Given the description of an element on the screen output the (x, y) to click on. 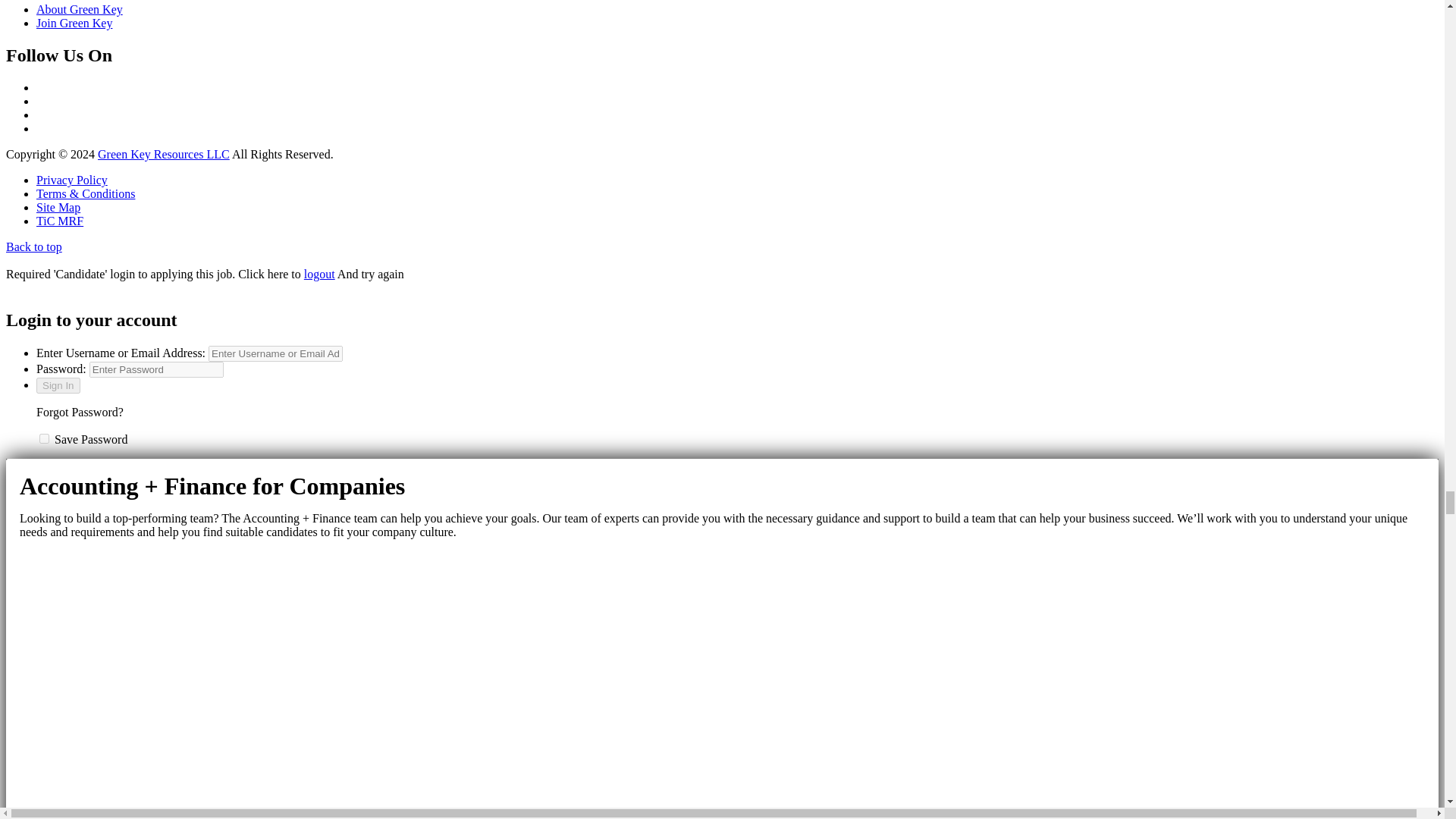
Sign In (58, 385)
Sign In (58, 385)
Back to top (33, 246)
on (44, 438)
